Given the description of an element on the screen output the (x, y) to click on. 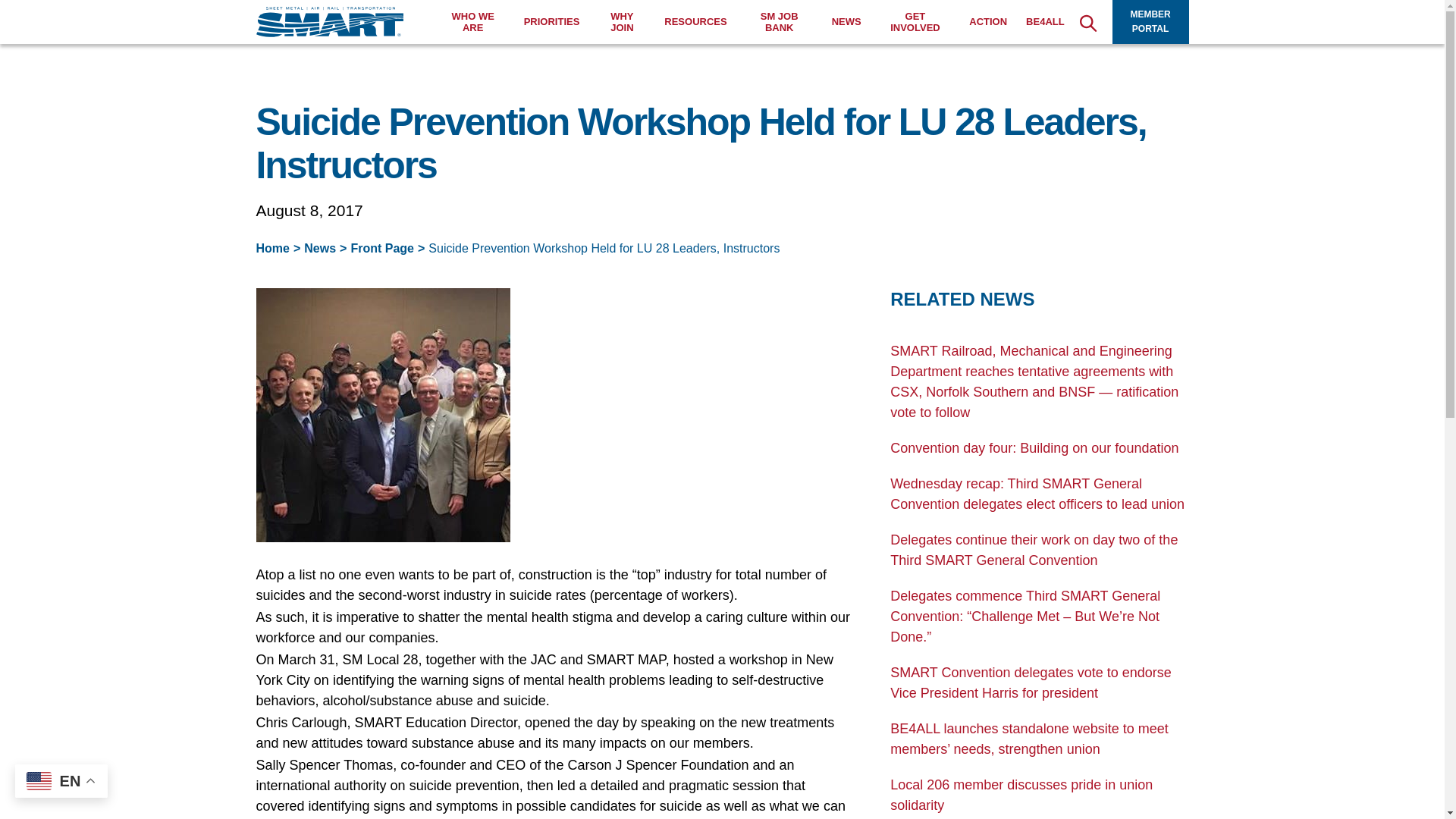
WHO WE ARE (473, 22)
Go to News. (320, 247)
Go to SMART Union. (272, 247)
PRIORITIES (551, 21)
WHY JOIN (621, 22)
Go to the Front Page category archives. (381, 247)
